Given the description of an element on the screen output the (x, y) to click on. 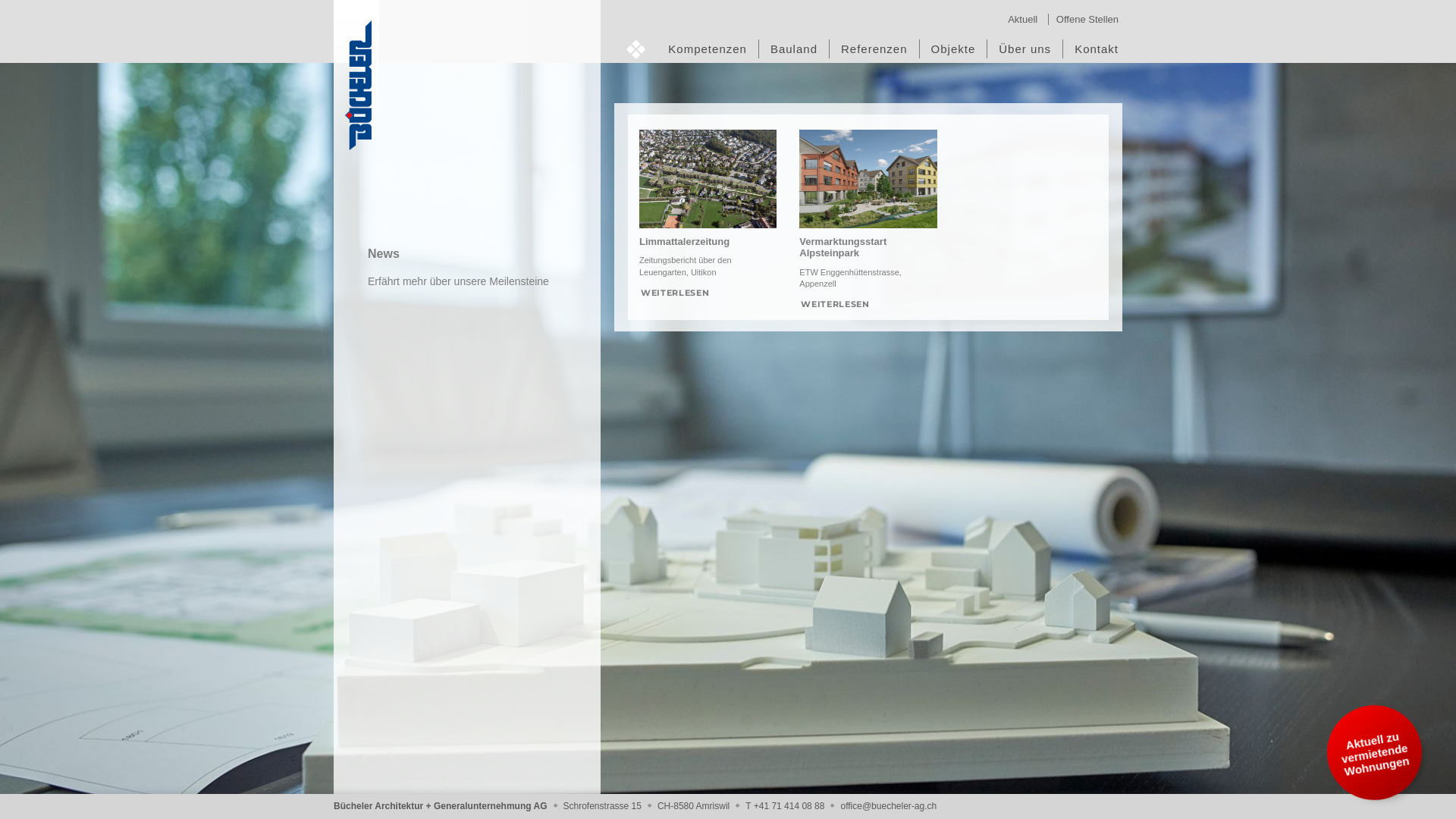
Aktuell Element type: text (1022, 19)
Offene Stellen Element type: text (1087, 19)
Referenzen Element type: text (873, 49)
Objekte Element type: text (953, 49)
WEITERLESEN Element type: text (834, 303)
WEITERLESEN Element type: text (674, 292)
office@buecheler-ag.ch Element type: text (888, 805)
Kompetenzen Element type: text (707, 49)
Bauland Element type: text (793, 49)
T +41 71 414 08 88 Element type: text (784, 805)
Kontakt Element type: text (1096, 49)
